Given the description of an element on the screen output the (x, y) to click on. 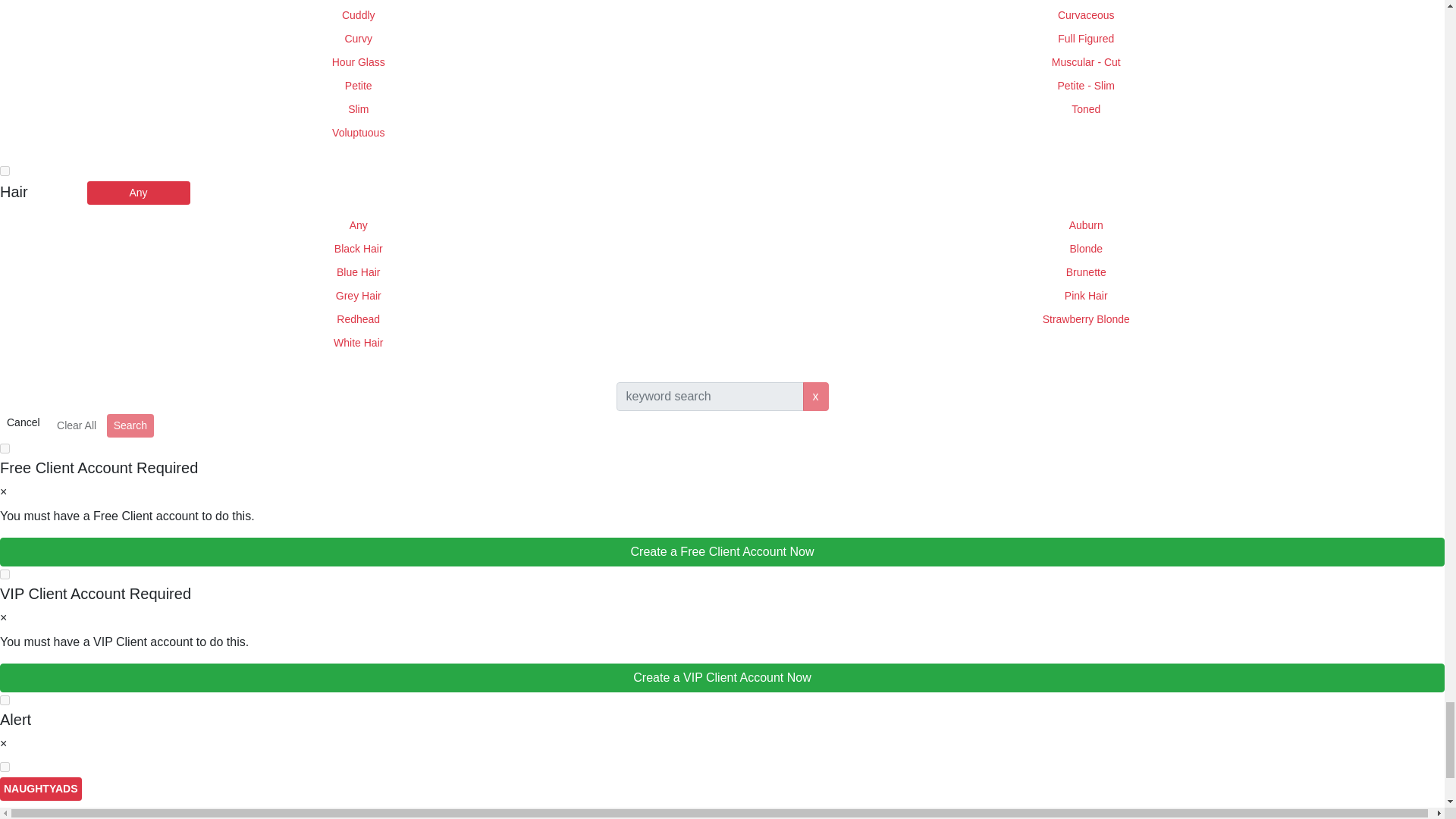
Naughty Ads - Escorts Directory (40, 788)
on (5, 171)
